Given the description of an element on the screen output the (x, y) to click on. 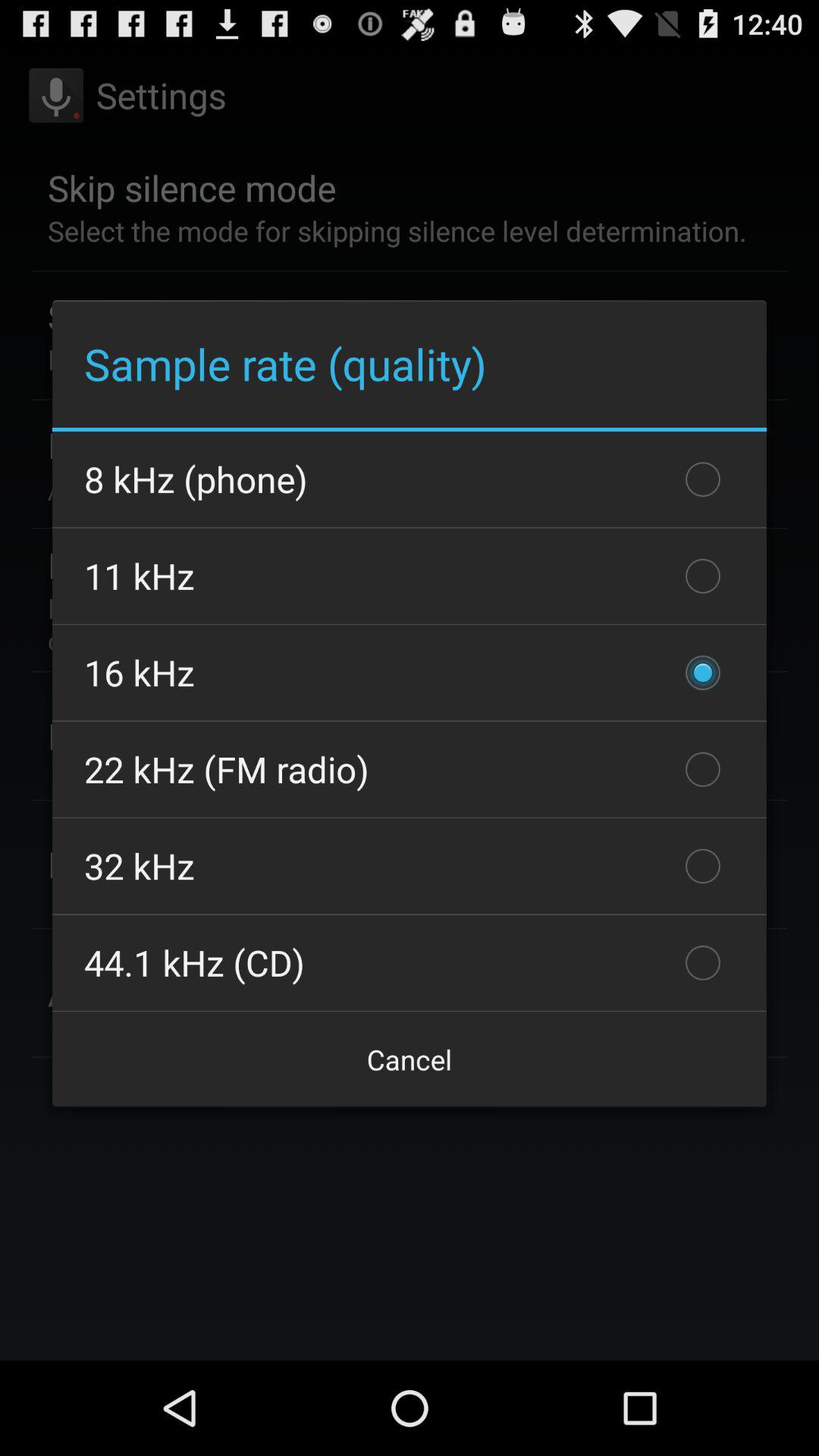
click the button at the bottom (409, 1059)
